Given the description of an element on the screen output the (x, y) to click on. 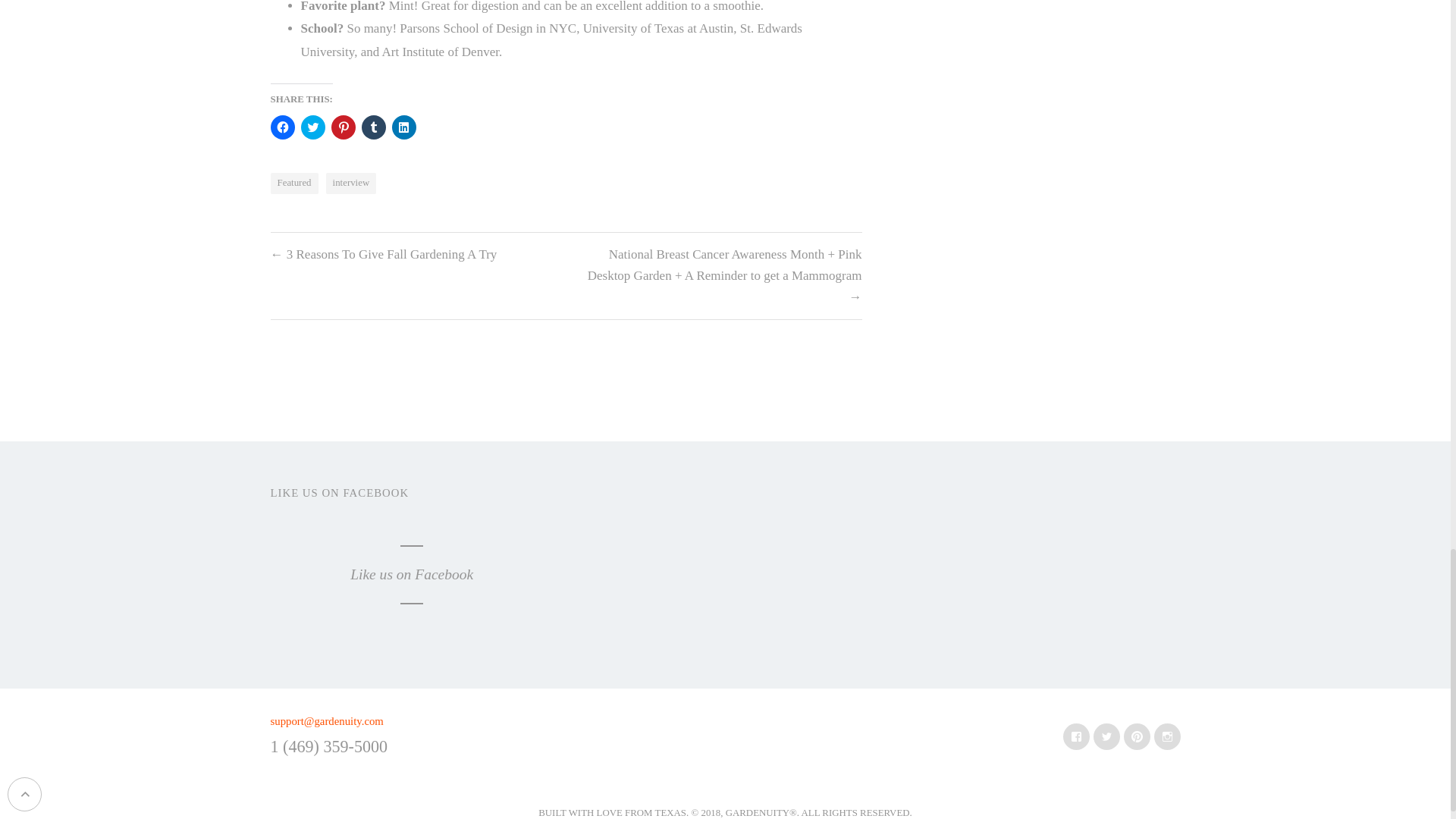
Click to share on Pinterest (342, 127)
Click to share on Facebook (281, 127)
Click to share on Tumblr (373, 127)
Click to share on Twitter (311, 127)
Featured (293, 183)
Click to share on LinkedIn (402, 127)
interview (351, 183)
